Given the description of an element on the screen output the (x, y) to click on. 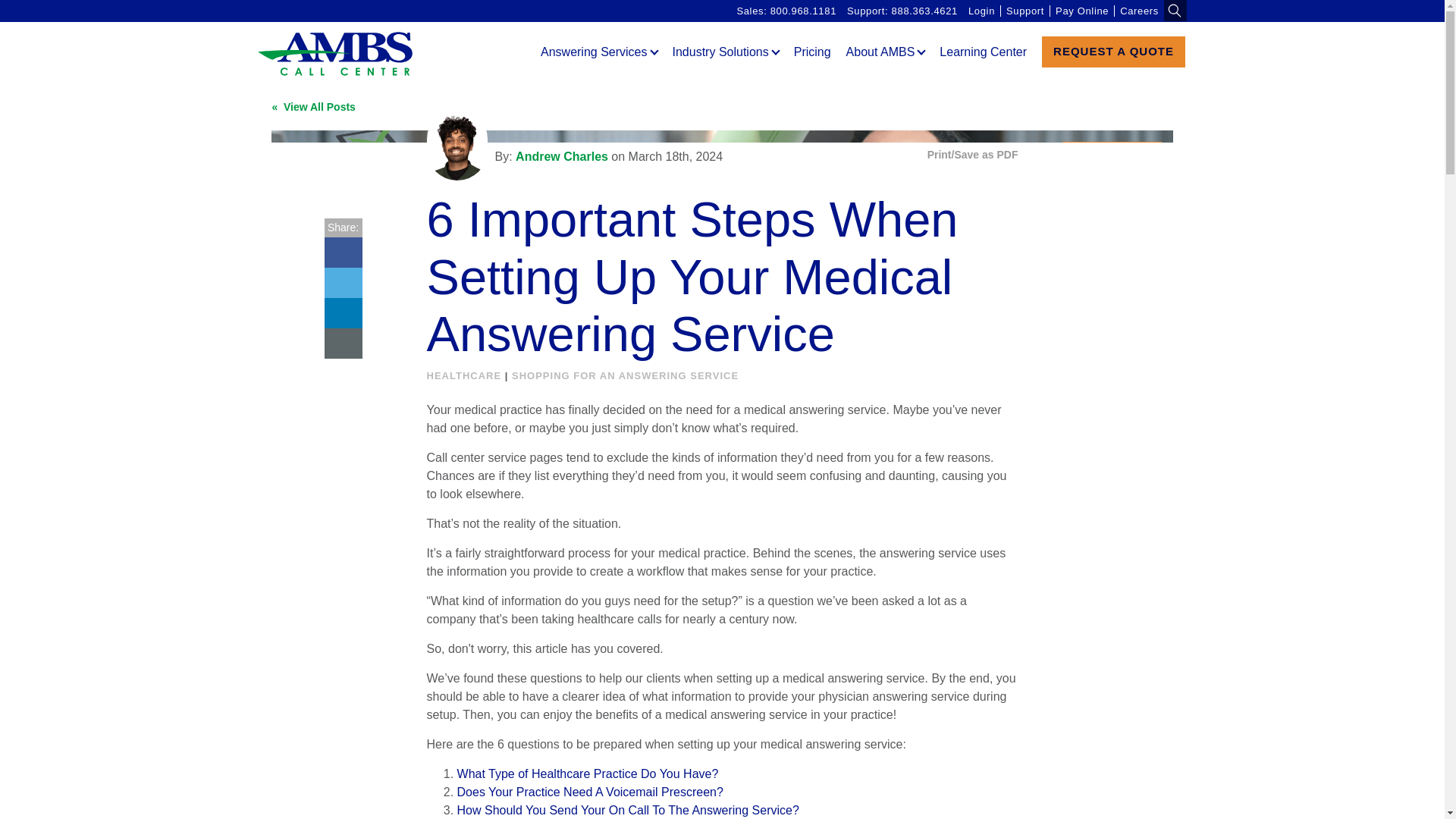
Support: 888.363.4621 (902, 10)
Careers (1138, 10)
Share via Email (343, 343)
Answering Services (598, 55)
Request A Quote (1113, 51)
Andrew Charles (456, 144)
Share on Twitter (343, 282)
Share on Facebook (343, 252)
Share: (362, 250)
Support (1024, 10)
Login (981, 10)
Share on Linkedin (343, 313)
Sales: 800.968.1181 (785, 10)
Industry Solutions (725, 55)
Pay Online (1081, 10)
